Given the description of an element on the screen output the (x, y) to click on. 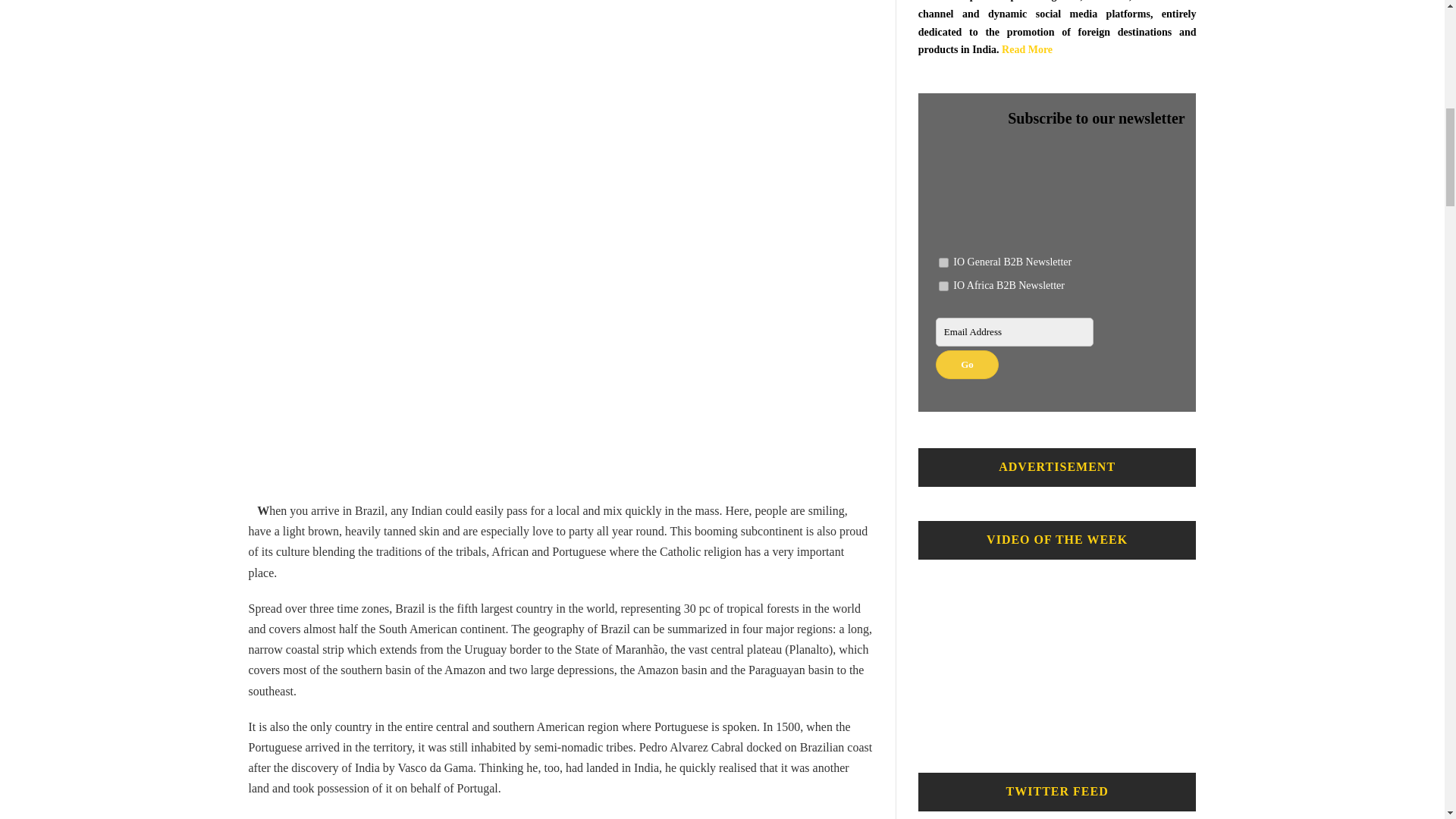
IO Africa B2B Newsletter (944, 286)
IO General B2B Newsletter (944, 262)
Go (967, 364)
